Given the description of an element on the screen output the (x, y) to click on. 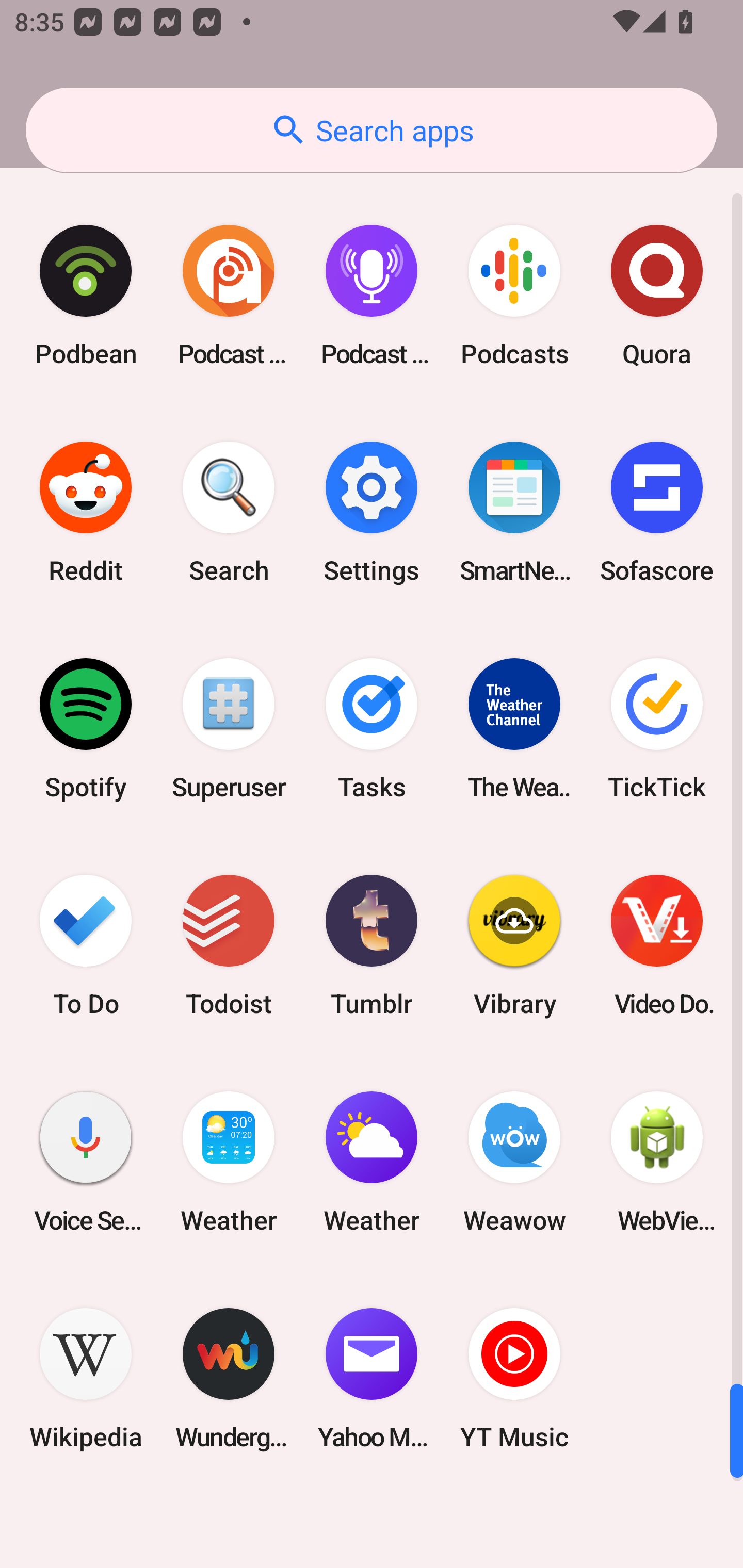
  Search apps (371, 130)
Podbean (85, 295)
Podcast Addict (228, 295)
Podcast Player (371, 295)
Podcasts (514, 295)
Quora (656, 295)
Reddit (85, 512)
Search (228, 512)
Settings (371, 512)
SmartNews (514, 512)
Sofascore (656, 512)
Spotify (85, 728)
Superuser (228, 728)
Tasks (371, 728)
The Weather Channel (514, 728)
TickTick (656, 728)
To Do (85, 945)
Todoist (228, 945)
Tumblr (371, 945)
Vibrary (514, 945)
Video Downloader & Ace Player (656, 945)
Voice Search (85, 1161)
Weather (228, 1161)
Weather (371, 1161)
Weawow (514, 1161)
WebView Browser Tester (656, 1161)
Wikipedia (85, 1378)
Wunderground (228, 1378)
Yahoo Mail (371, 1378)
YT Music (514, 1378)
